Given the description of an element on the screen output the (x, y) to click on. 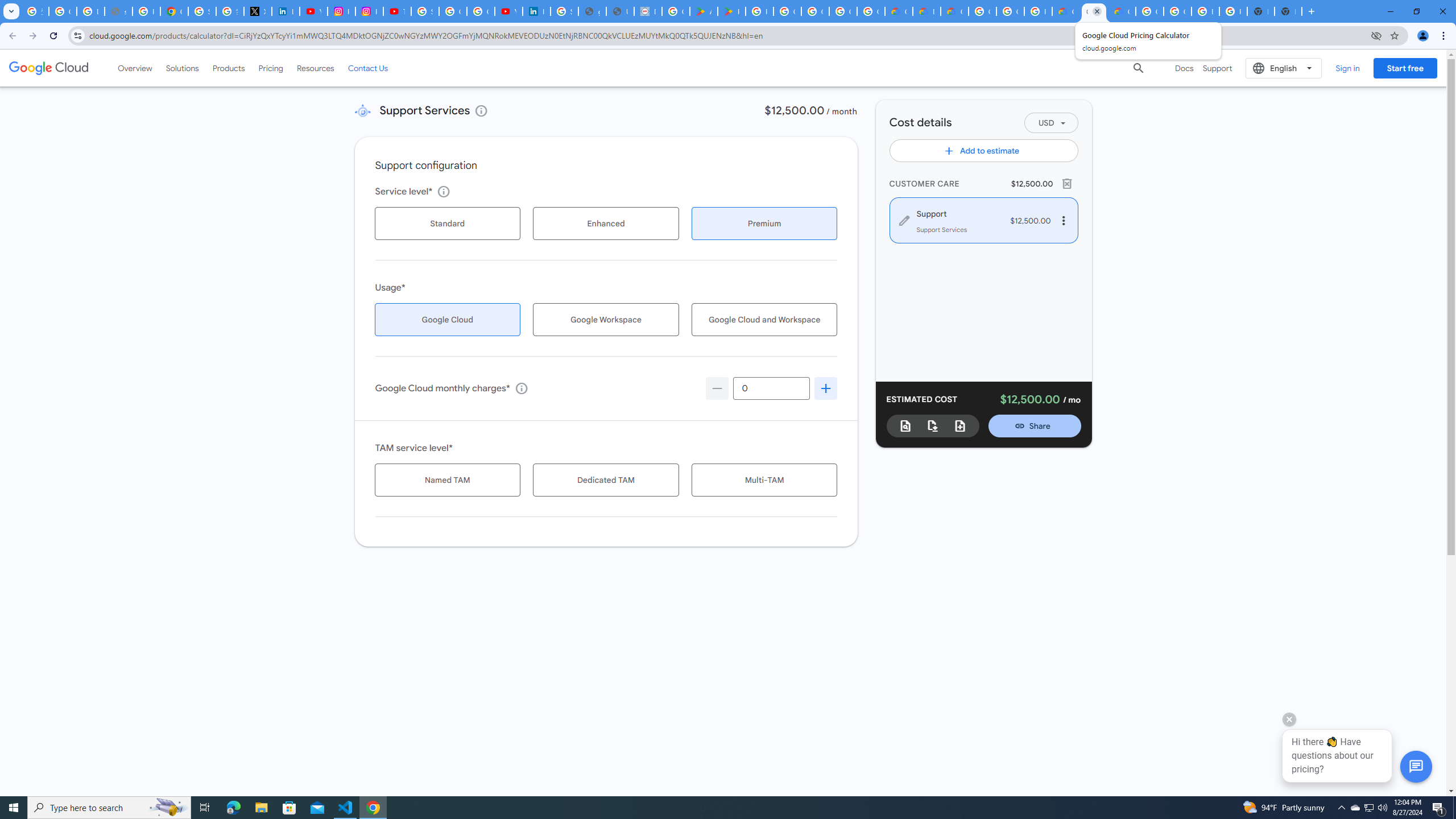
Support Services (362, 110)
support.google.com - Network error (118, 11)
Docs (1183, 67)
Google Cloud Platform (1177, 11)
Gemini for Business and Developers | Google Cloud (955, 11)
Download estimate as .csv (932, 425)
View details (481, 110)
Google Cloud Service Health (1121, 11)
Start free (1405, 67)
Pricing (270, 67)
